Given the description of an element on the screen output the (x, y) to click on. 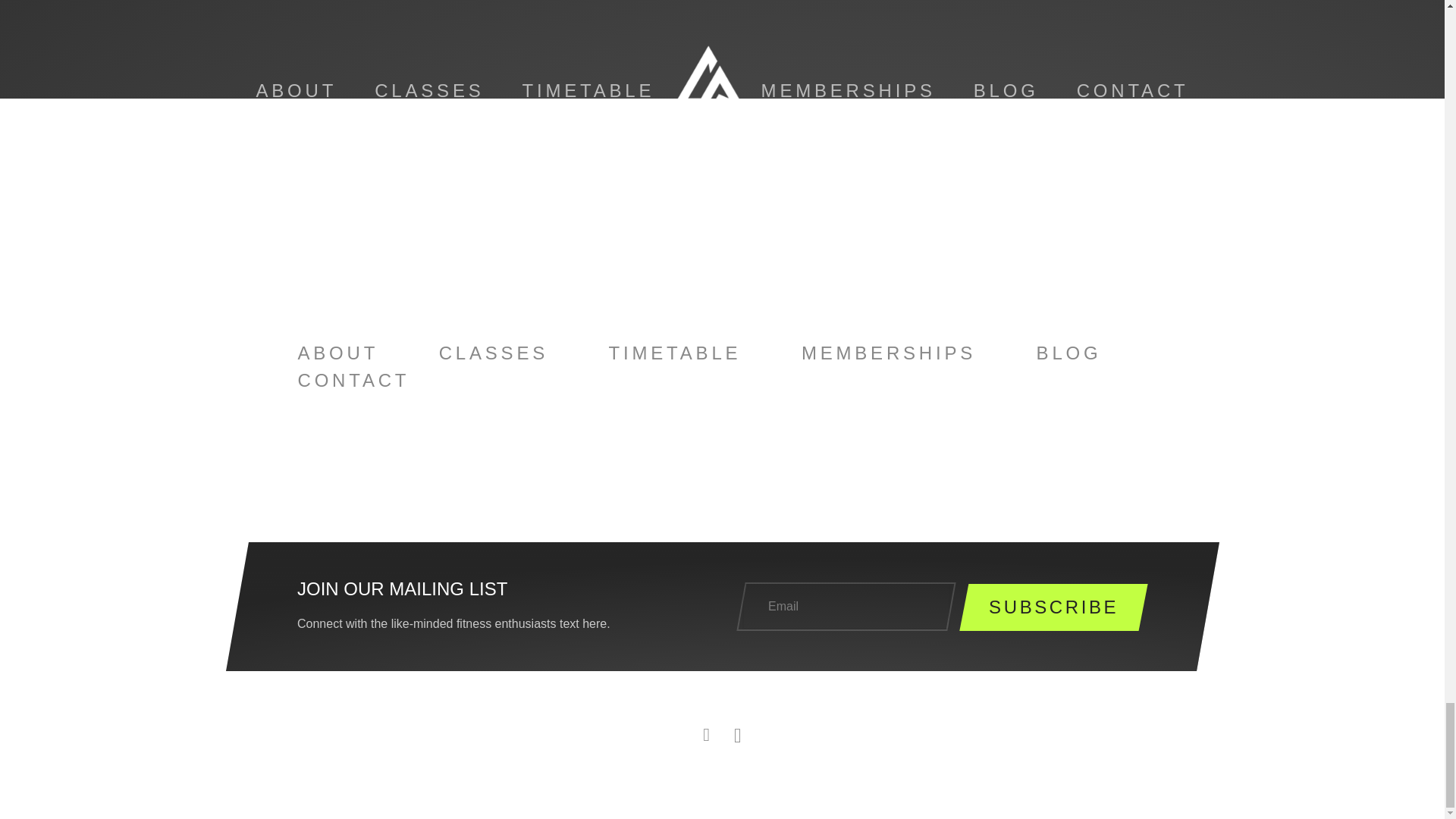
Subscribe (1053, 606)
